Given the description of an element on the screen output the (x, y) to click on. 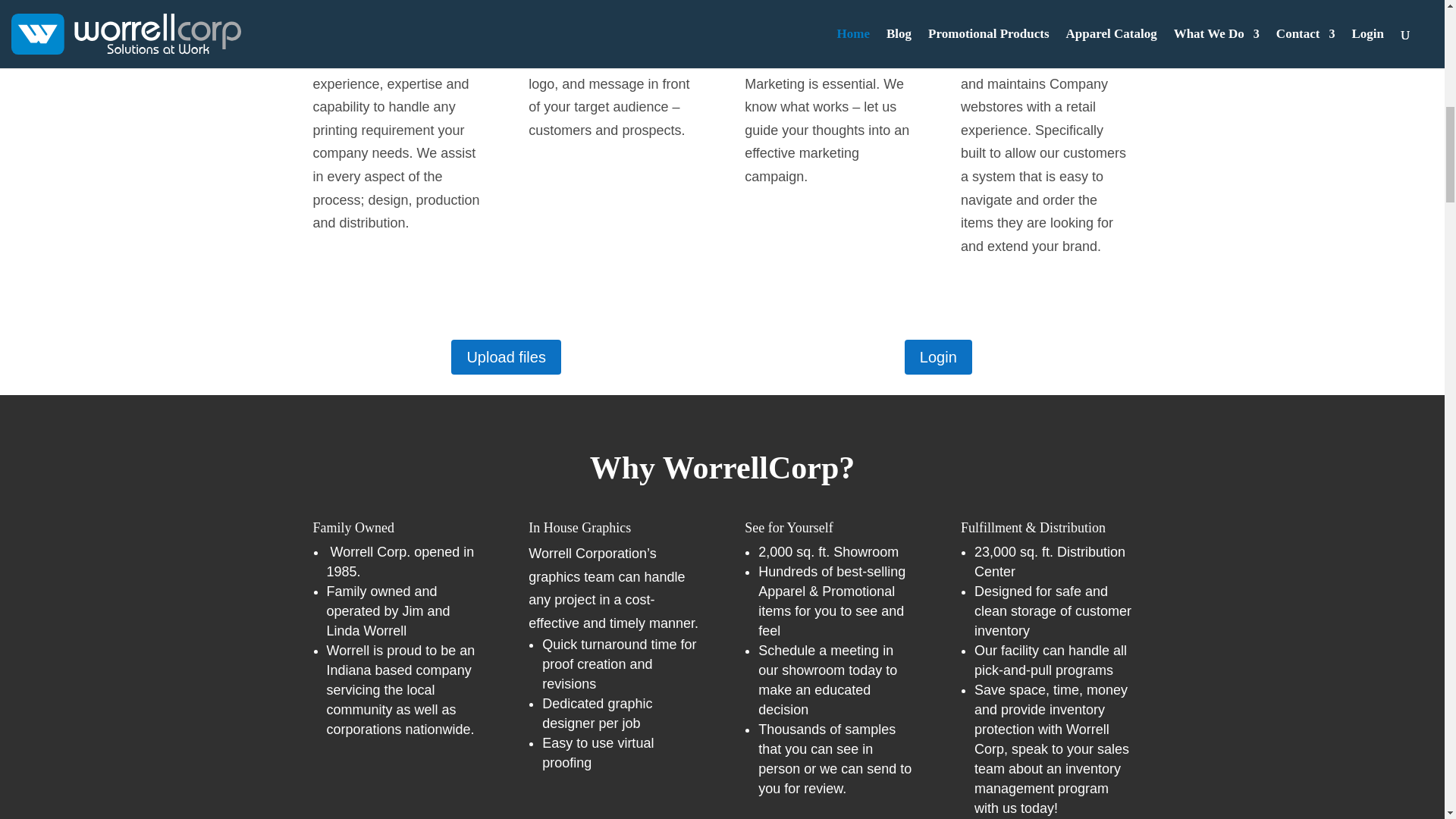
Print Services (397, 34)
Promotional Products (615, 34)
Upload files (505, 356)
Marketing Products (829, 34)
Login (938, 356)
Company Webstores (1046, 34)
